Given the description of an element on the screen output the (x, y) to click on. 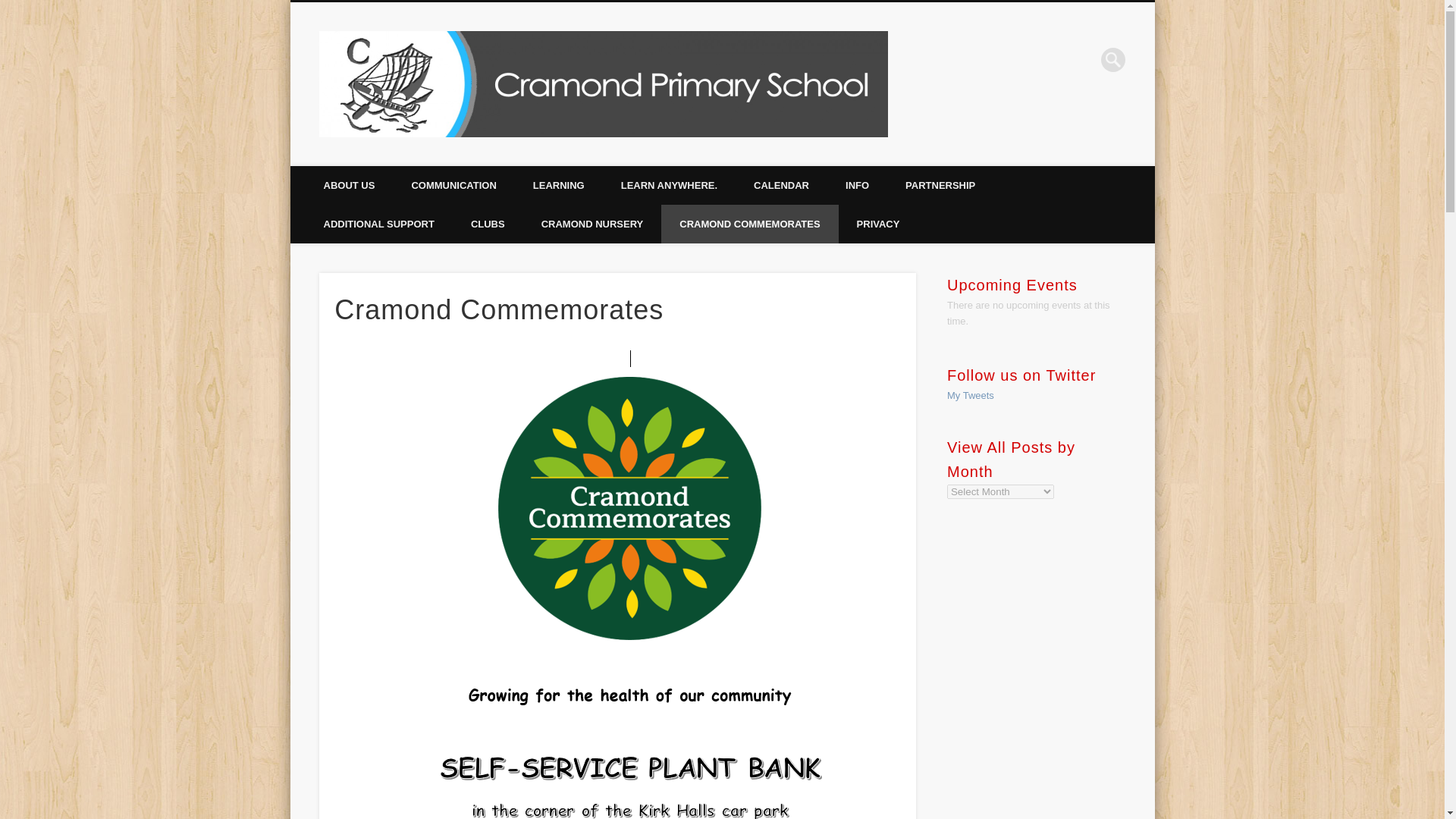
Search (11, 7)
LEARNING (558, 185)
COMMUNICATION (453, 185)
Cramond Primary School website (1021, 116)
LEARN ANYWHERE. (668, 185)
ABOUT US (348, 185)
